Given the description of an element on the screen output the (x, y) to click on. 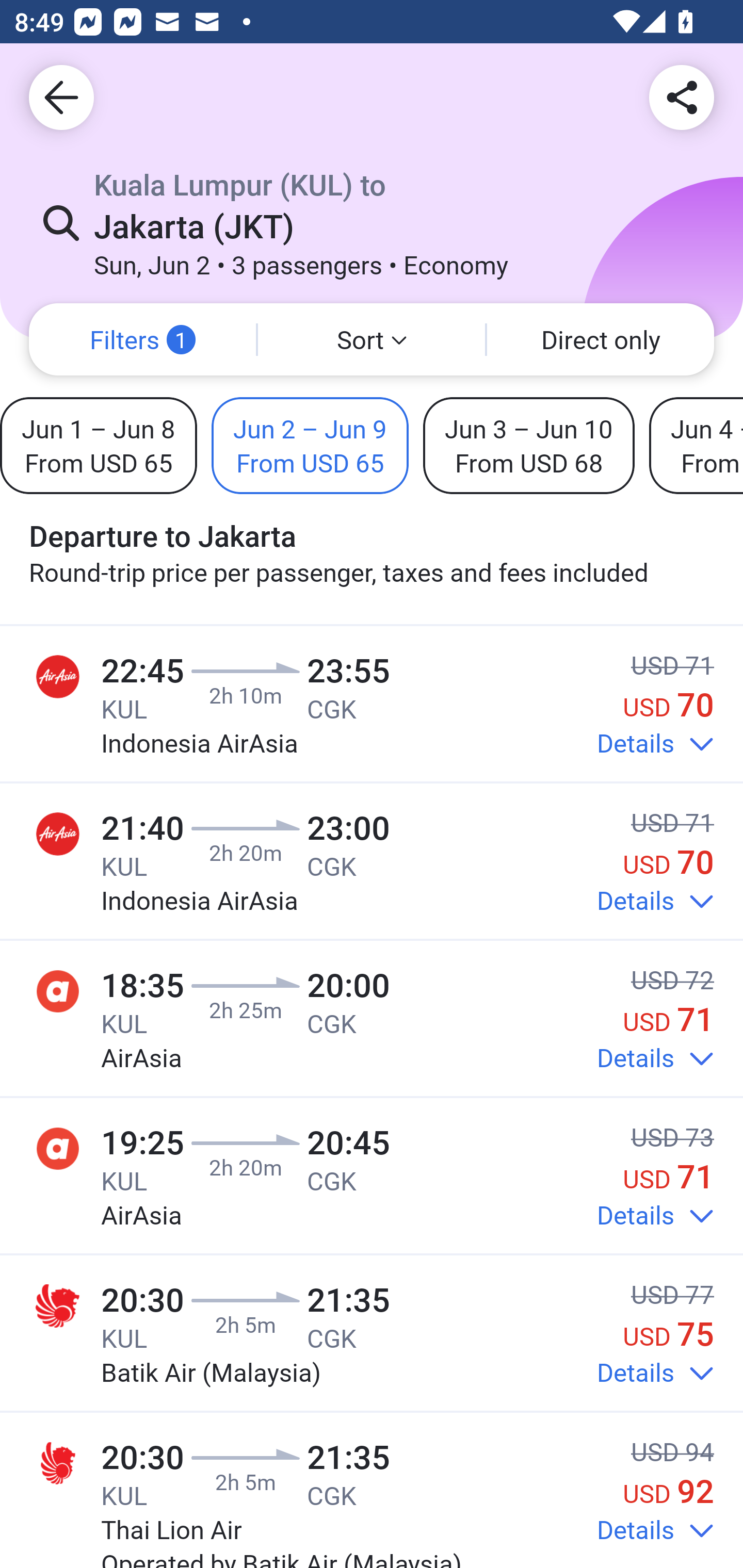
Filters 1 (141, 339)
Sort (371, 339)
Direct only (600, 339)
Jun 1 – Jun 8 From USD 65 (98, 444)
Jun 2 – Jun 9 From USD 65 (309, 444)
Jun 3 – Jun 10 From USD 68 (528, 444)
